Given the description of an element on the screen output the (x, y) to click on. 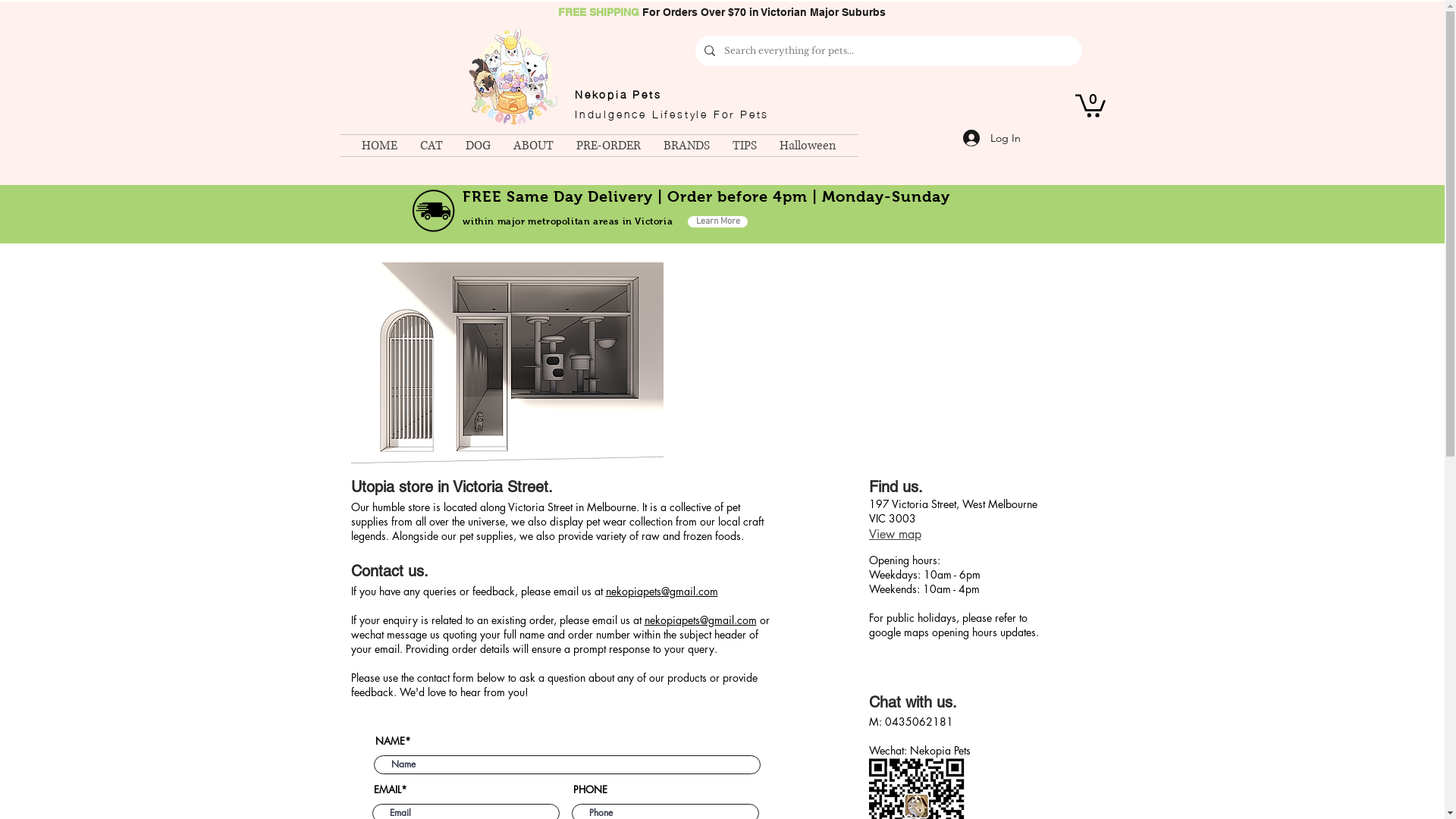
Log In Element type: text (991, 138)
View map Element type: text (903, 533)
ABOUT Element type: text (533, 145)
nekopiapets@gmail.com Element type: text (661, 590)
Learn More Element type: text (717, 221)
nekopiapets@gmail.com Element type: text (700, 619)
Halloween Element type: text (807, 145)
HOME Element type: text (379, 145)
0 Element type: text (1090, 104)
TIPS Element type: text (744, 145)
PRE-ORDER Element type: text (608, 145)
